Given the description of an element on the screen output the (x, y) to click on. 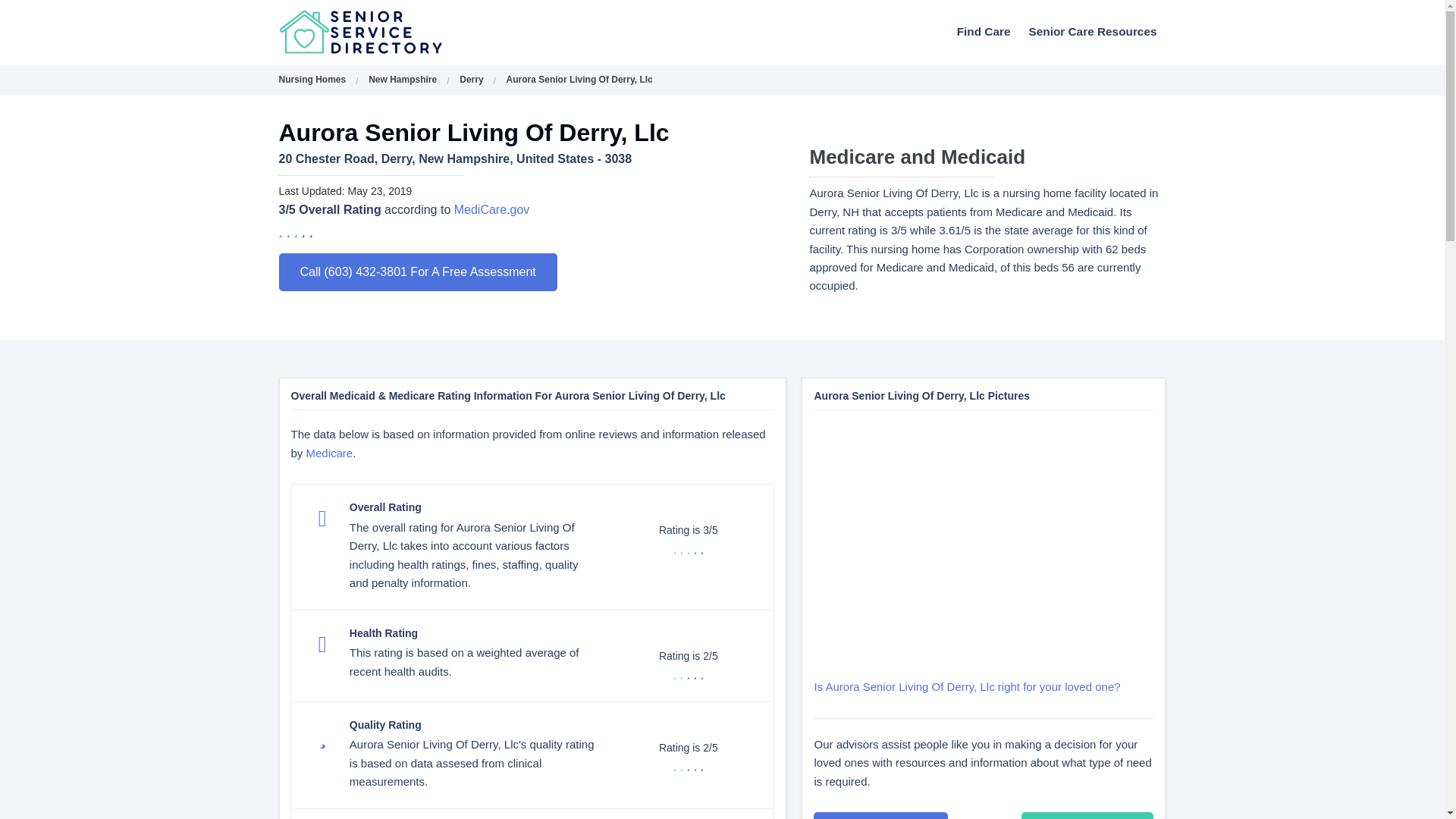
Aurora Senior Living Of Derry, Llc (579, 80)
Nursing Homes (312, 80)
CLAIM LISTING (1087, 815)
REQUEST INFO (880, 815)
New Hampshire (402, 80)
Derry (471, 80)
MediCare.gov (491, 209)
Find Care (983, 31)
Medicare (329, 452)
Senior Service Directory (400, 31)
Senior Care Resources (1092, 31)
